Given the description of an element on the screen output the (x, y) to click on. 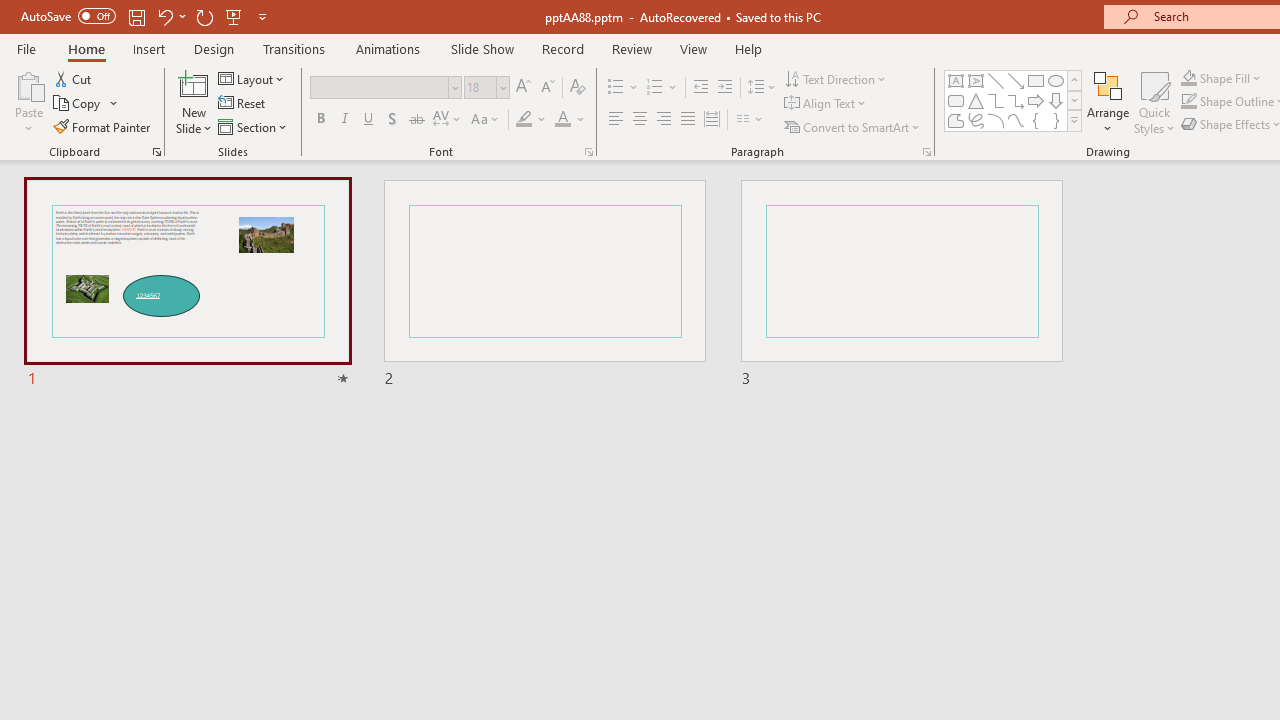
Shape Fill Aqua, Accent 2 (1188, 78)
Shape Outline Teal, Accent 1 (1188, 101)
